Given the description of an element on the screen output the (x, y) to click on. 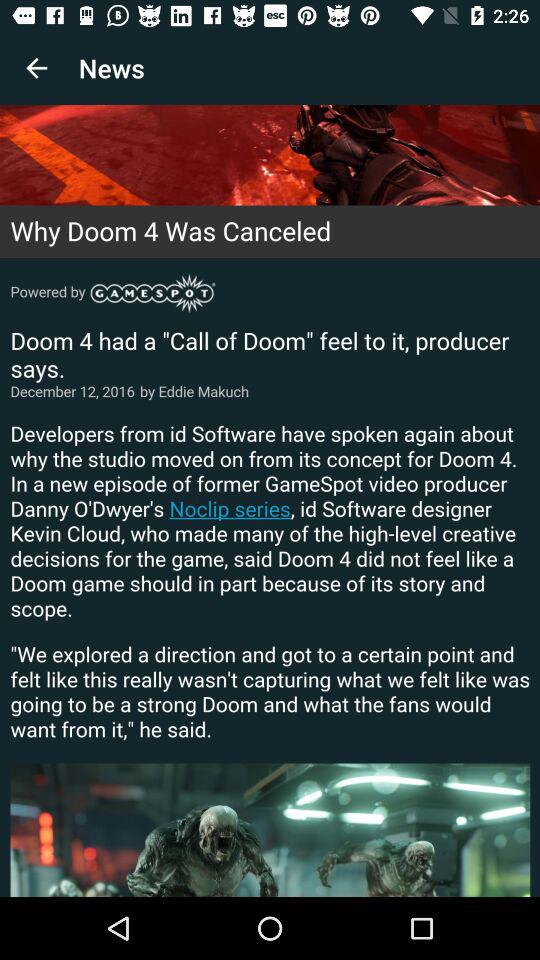
article on why doom 4 was canceled (270, 501)
